Given the description of an element on the screen output the (x, y) to click on. 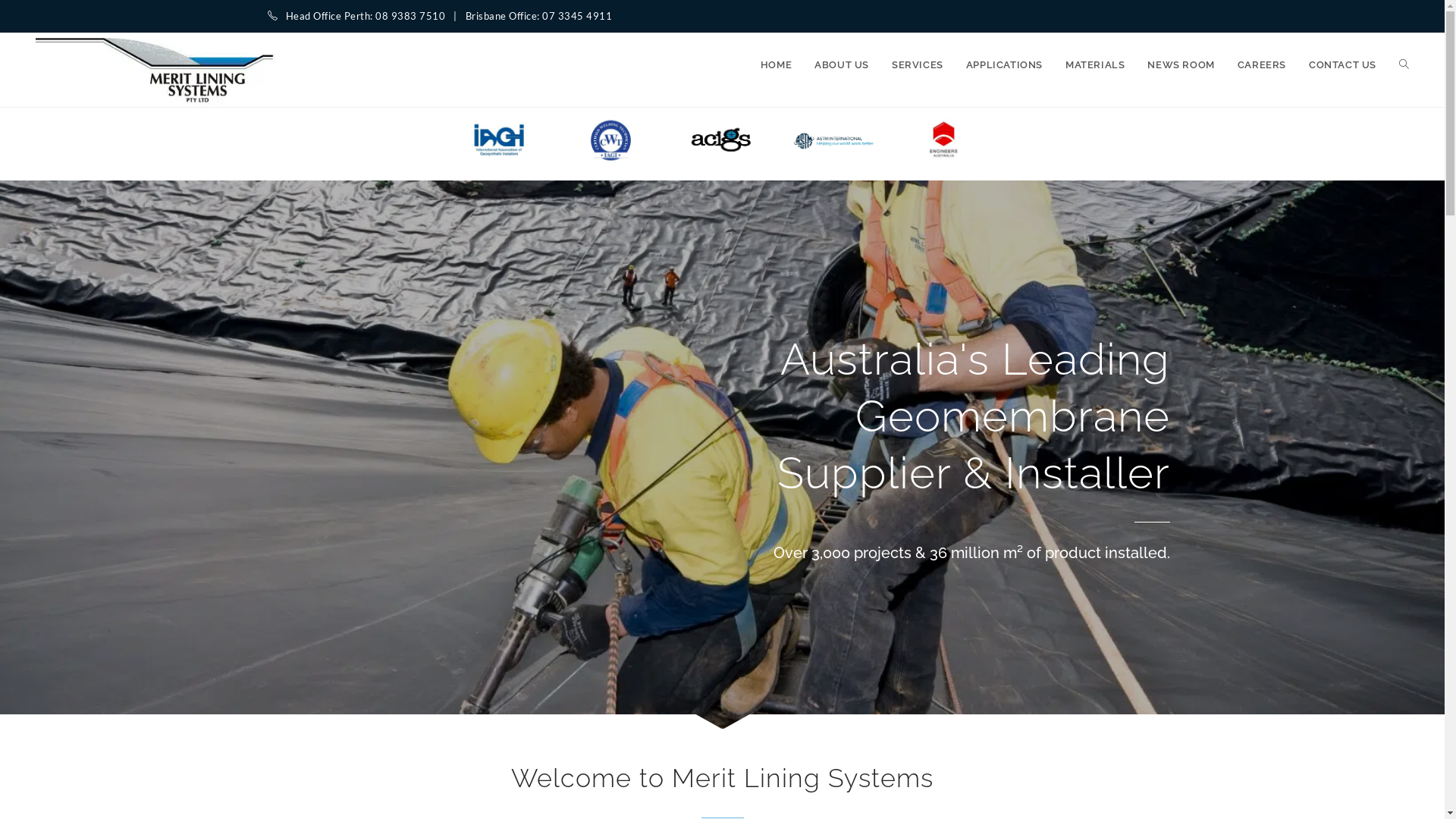
ABOUT US Element type: text (841, 64)
NEWS ROOM Element type: text (1180, 64)
SERVICES Element type: text (917, 64)
Home 2 Element type: hover (610, 139)
Home 3 Element type: hover (722, 139)
APPLICATIONS Element type: text (1004, 64)
MATERIALS Element type: text (1094, 64)
Home 1 Element type: hover (498, 139)
CONTACT US Element type: text (1342, 64)
HOME Element type: text (776, 64)
CAREERS Element type: text (1261, 64)
Home 5 Element type: hover (945, 139)
Home 4 Element type: hover (833, 139)
